Given the description of an element on the screen output the (x, y) to click on. 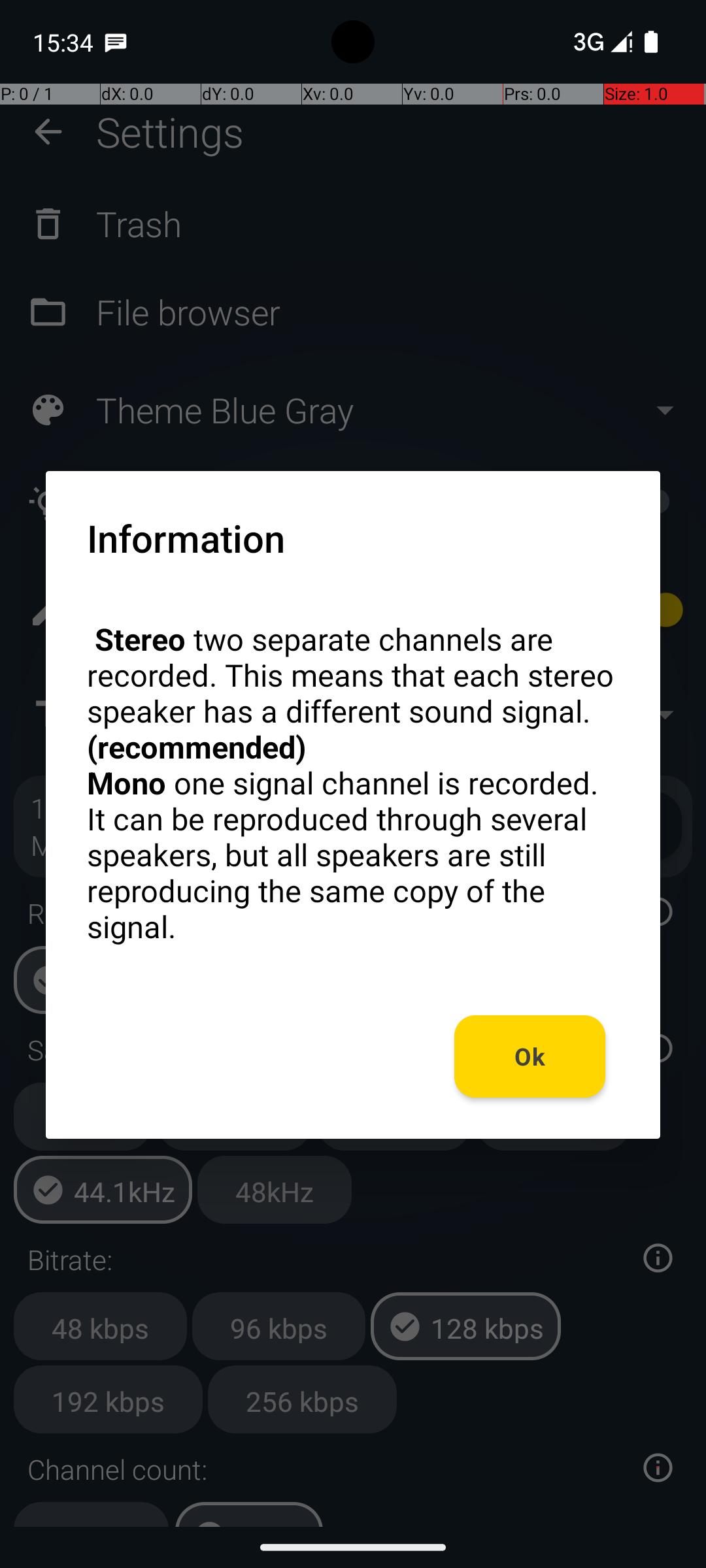
Information Element type: android.widget.TextView (185, 537)
 Stereo two separate channels are recorded. This means that each stereo speaker has a different sound signal. (recommended) 
Mono one signal channel is recorded. It can be reproduced through several speakers, but all speakers are still reproducing the same copy of the signal.  Element type: android.widget.TextView (352, 782)
Ok Element type: android.widget.Button (529, 1056)
SMS Messenger notification: Petar Gonzalez Element type: android.widget.ImageView (115, 41)
Phone signal full. Element type: android.widget.FrameLayout (600, 41)
